Given the description of an element on the screen output the (x, y) to click on. 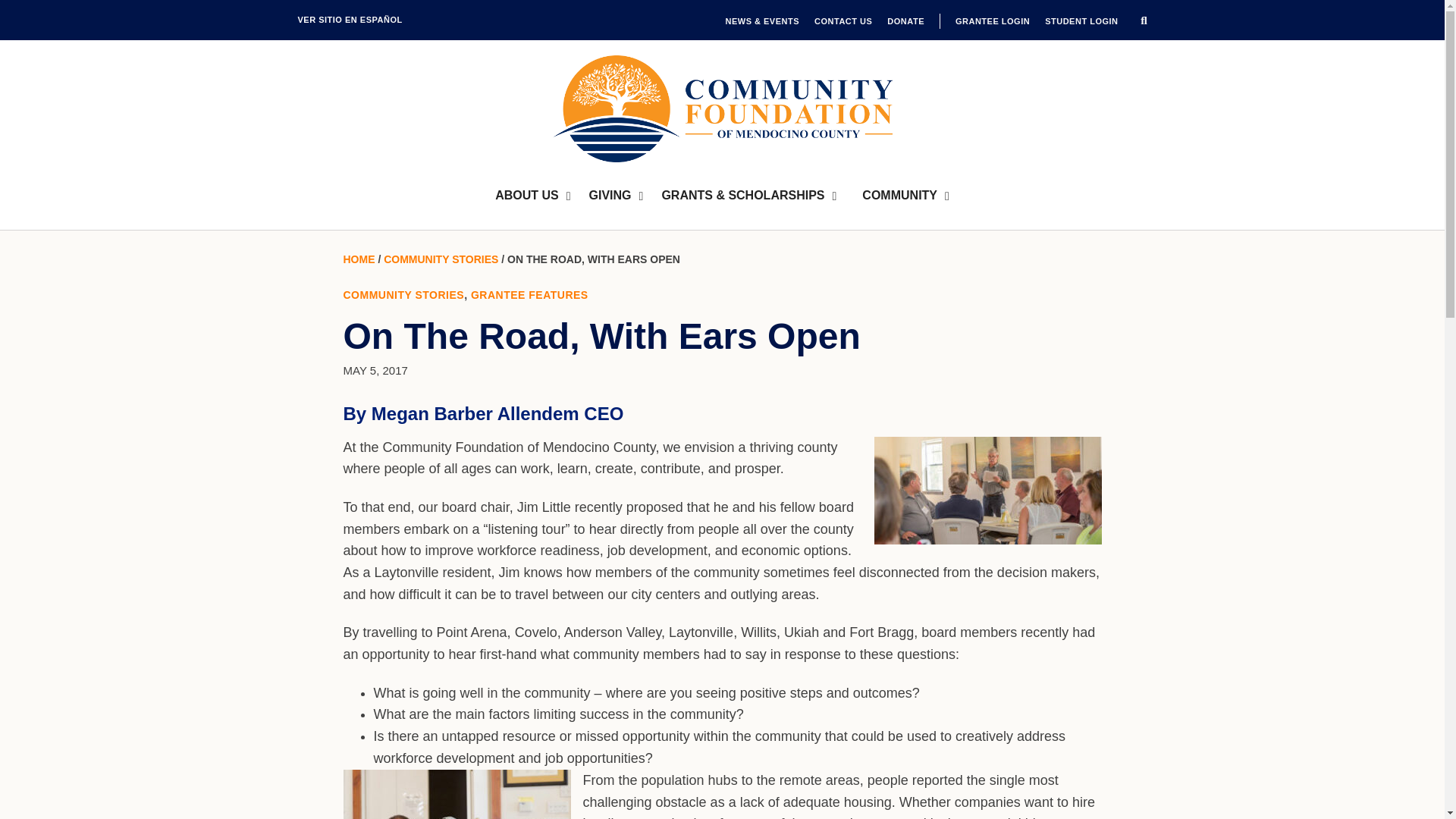
GRANTEE LOGIN (992, 20)
DONATE (905, 20)
ABOUT US (532, 195)
CONTACT US (842, 20)
STUDENT LOGIN (1081, 20)
GIVING (616, 195)
